Given the description of an element on the screen output the (x, y) to click on. 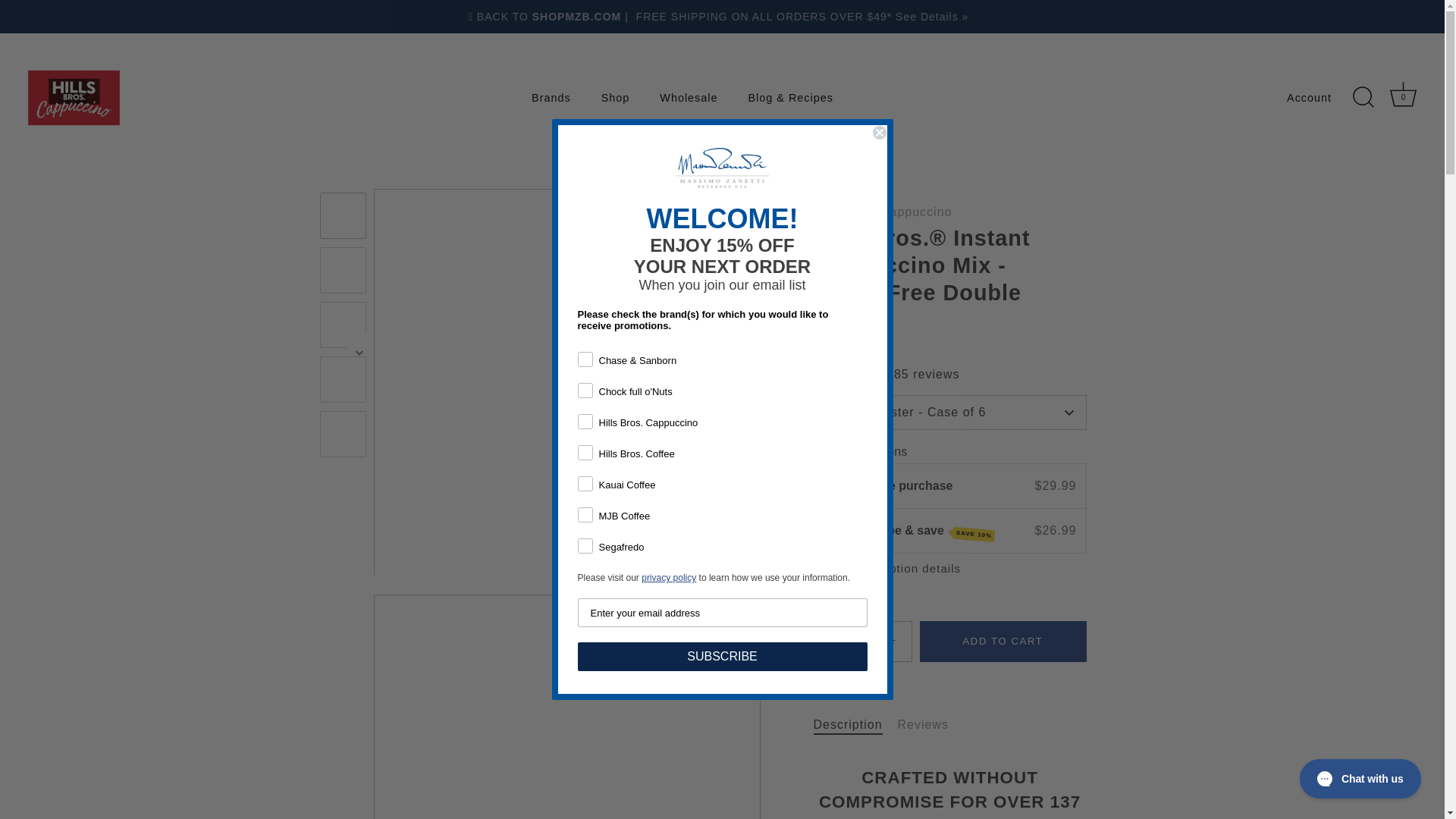
on (583, 409)
on (583, 501)
Brands (550, 97)
1 (1404, 97)
Cart (862, 640)
on (1403, 94)
on (583, 378)
Skip to content (583, 470)
Gorgias live chat messenger (615, 97)
on (1360, 778)
Wholesale (583, 439)
on (688, 97)
on (583, 347)
